Given the description of an element on the screen output the (x, y) to click on. 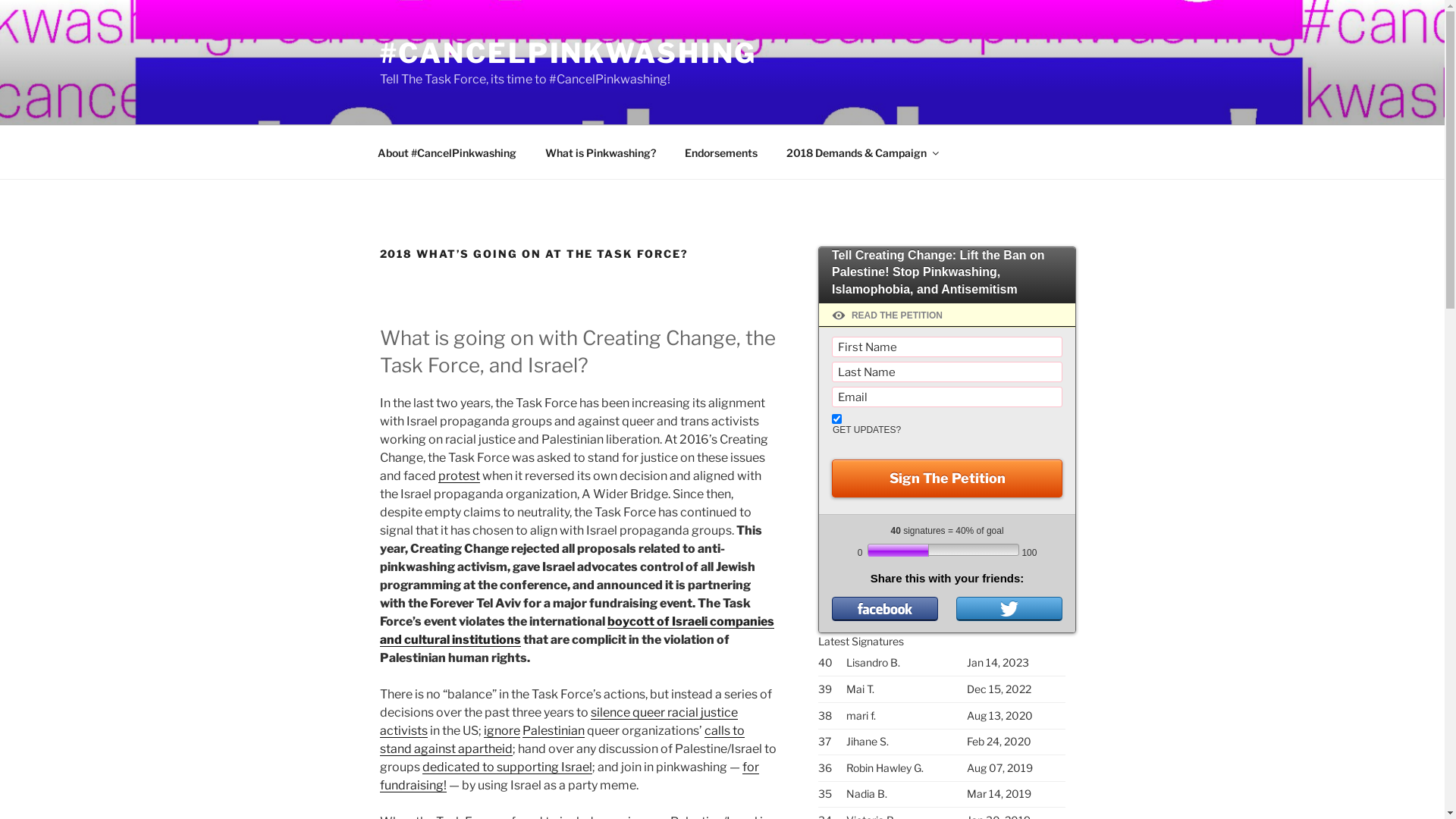
#CANCELPINKWASHING Element type: text (567, 52)
READ THE PETITION Element type: text (947, 315)
boycott of Israeli companies and cultural institutions Element type: text (576, 630)
2018 Demands & Campaign Element type: text (861, 151)
silence queer racial justice activists Element type: text (558, 721)
ignore Element type: text (501, 730)
for fundraising! Element type: text (568, 775)
Facebook Element type: hover (884, 608)
Twitter Element type: hover (1009, 608)
  Element type: text (1009, 608)
protest Element type: text (459, 475)
calls to stand against apartheid Element type: text (561, 739)
Sign The Petition Element type: text (946, 478)
  Element type: text (884, 608)
Palestinian Element type: text (552, 730)
dedicated to supporting Israel Element type: text (506, 766)
About #CancelPinkwashing Element type: text (446, 151)
Endorsements Element type: text (721, 151)
What is Pinkwashing? Element type: text (600, 151)
